Given the description of an element on the screen output the (x, y) to click on. 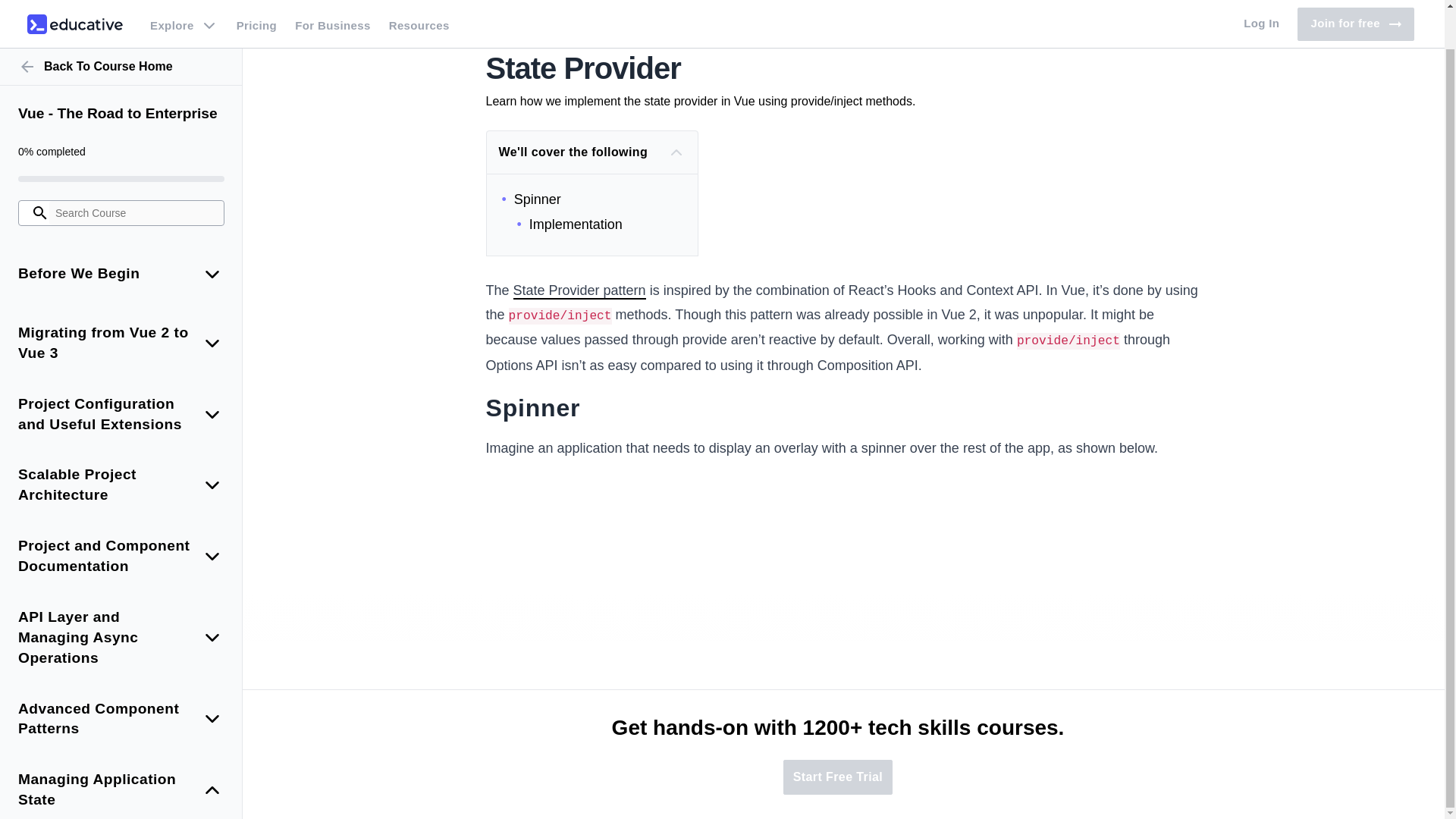
Resources (419, 3)
Back To Course Home (121, 25)
Log In (1261, 3)
Pricing (256, 3)
Vue - The Road to Enterprise (121, 73)
Explore (184, 3)
For Business (332, 3)
